Given the description of an element on the screen output the (x, y) to click on. 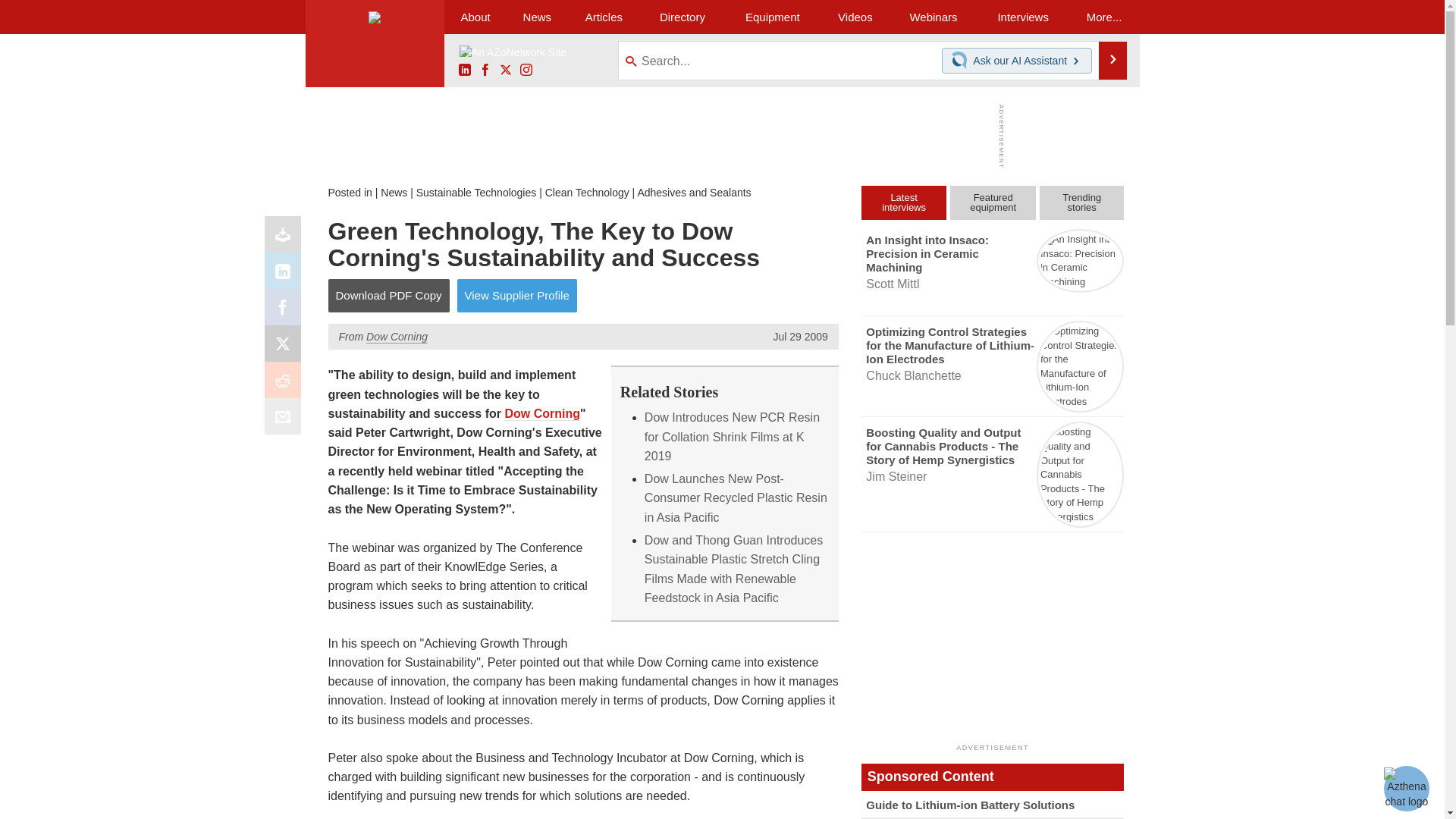
Chat with our AI Assistant Ask our AI Assistant (1017, 60)
News (536, 17)
Interviews (1022, 17)
Reddit (285, 384)
Instagram (525, 70)
More... (1104, 17)
Email (285, 420)
Equipment (772, 17)
Download PDF copy (285, 238)
Videos (855, 17)
